Given the description of an element on the screen output the (x, y) to click on. 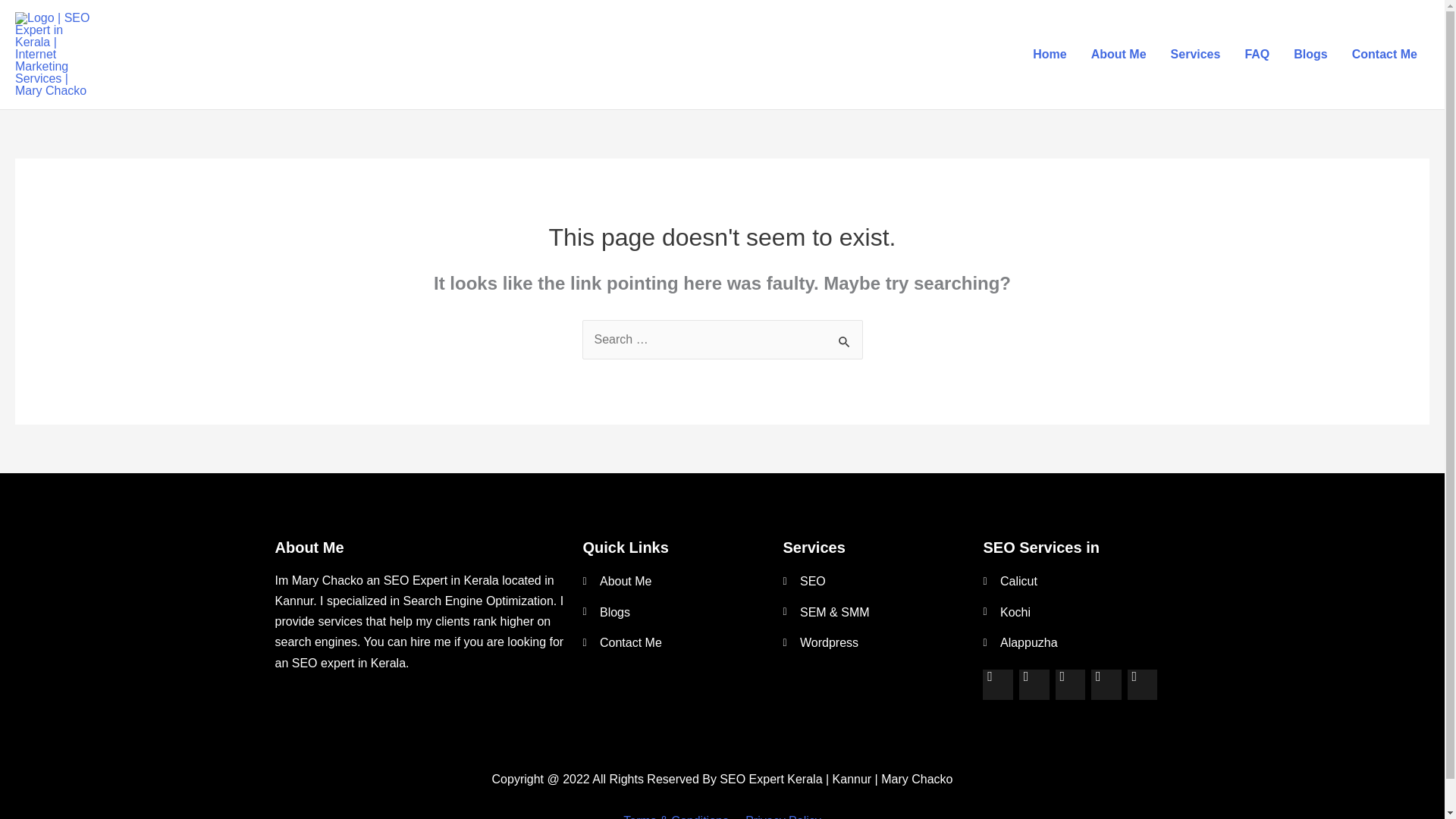
Blogs (1310, 54)
Privacy Policy (783, 816)
Contact Me (1384, 54)
About Me (674, 581)
Contact Me (674, 642)
Calicut (1074, 581)
Home (1049, 54)
Services (1195, 54)
About Me (1118, 54)
Blogs (674, 612)
